Given the description of an element on the screen output the (x, y) to click on. 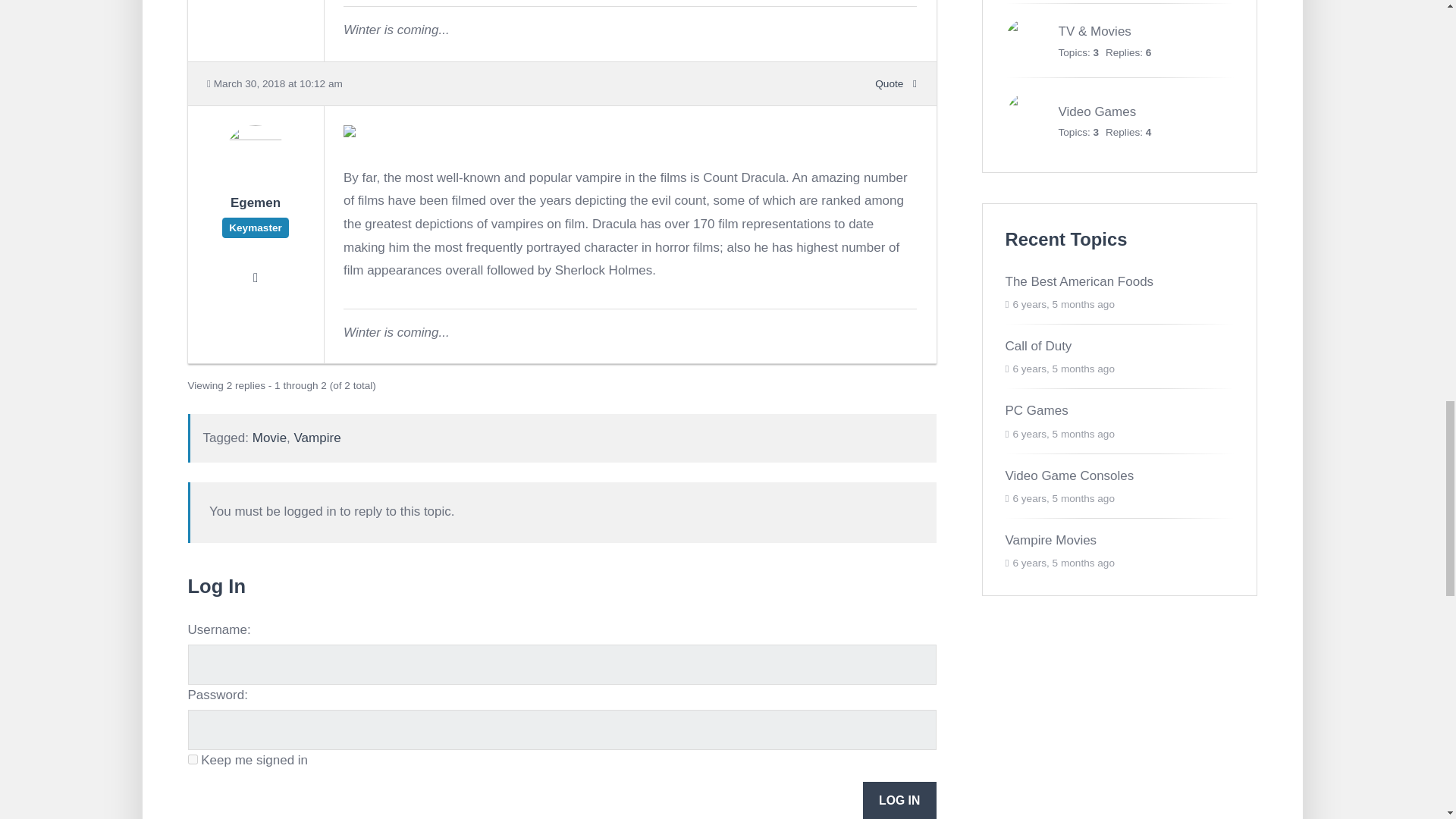
View Egemen's profile (255, 213)
View Egemen's profile (255, 180)
forever (192, 759)
